Given the description of an element on the screen output the (x, y) to click on. 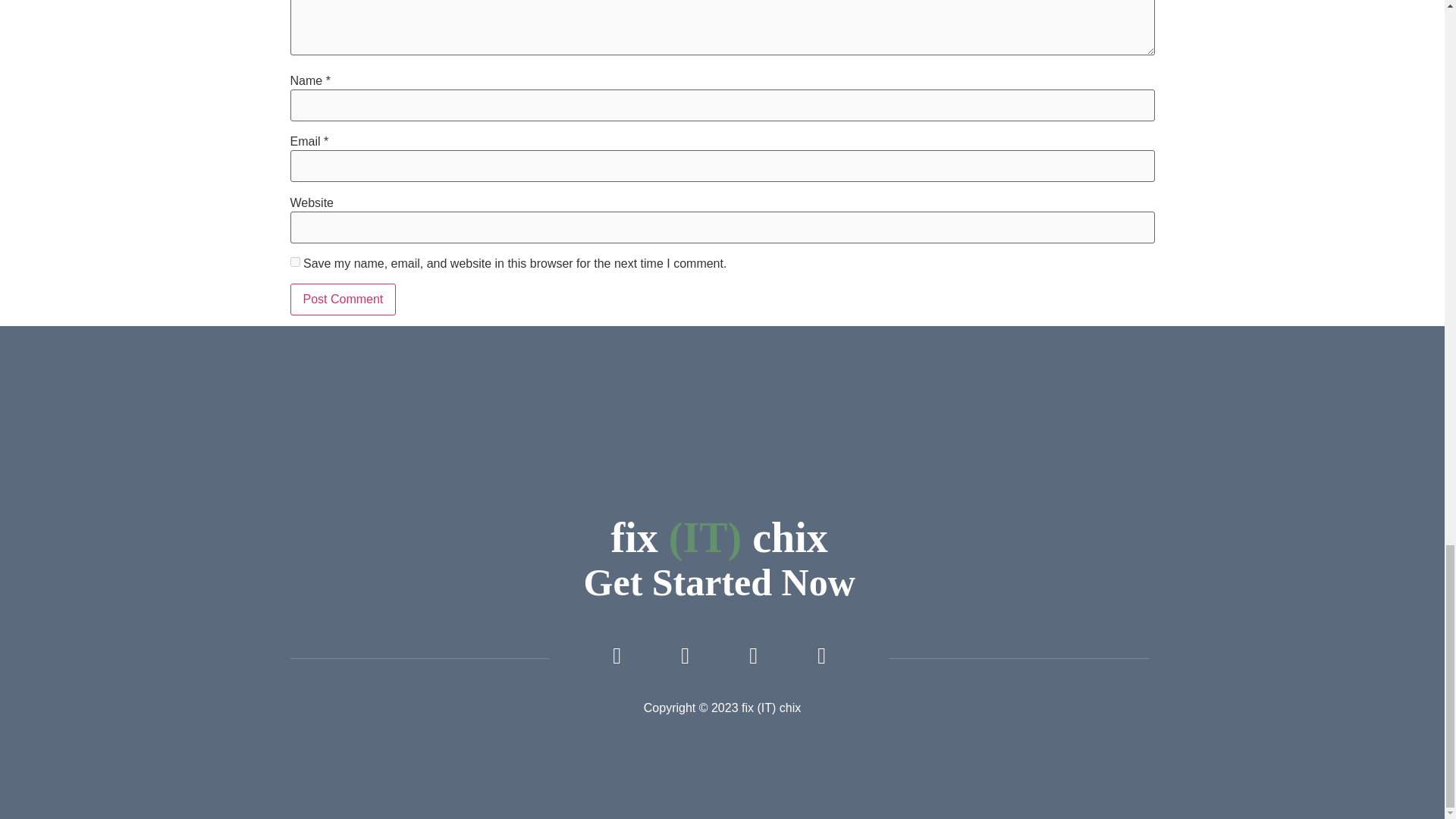
yes (294, 261)
Post Comment (342, 299)
Post Comment (342, 299)
